Given the description of an element on the screen output the (x, y) to click on. 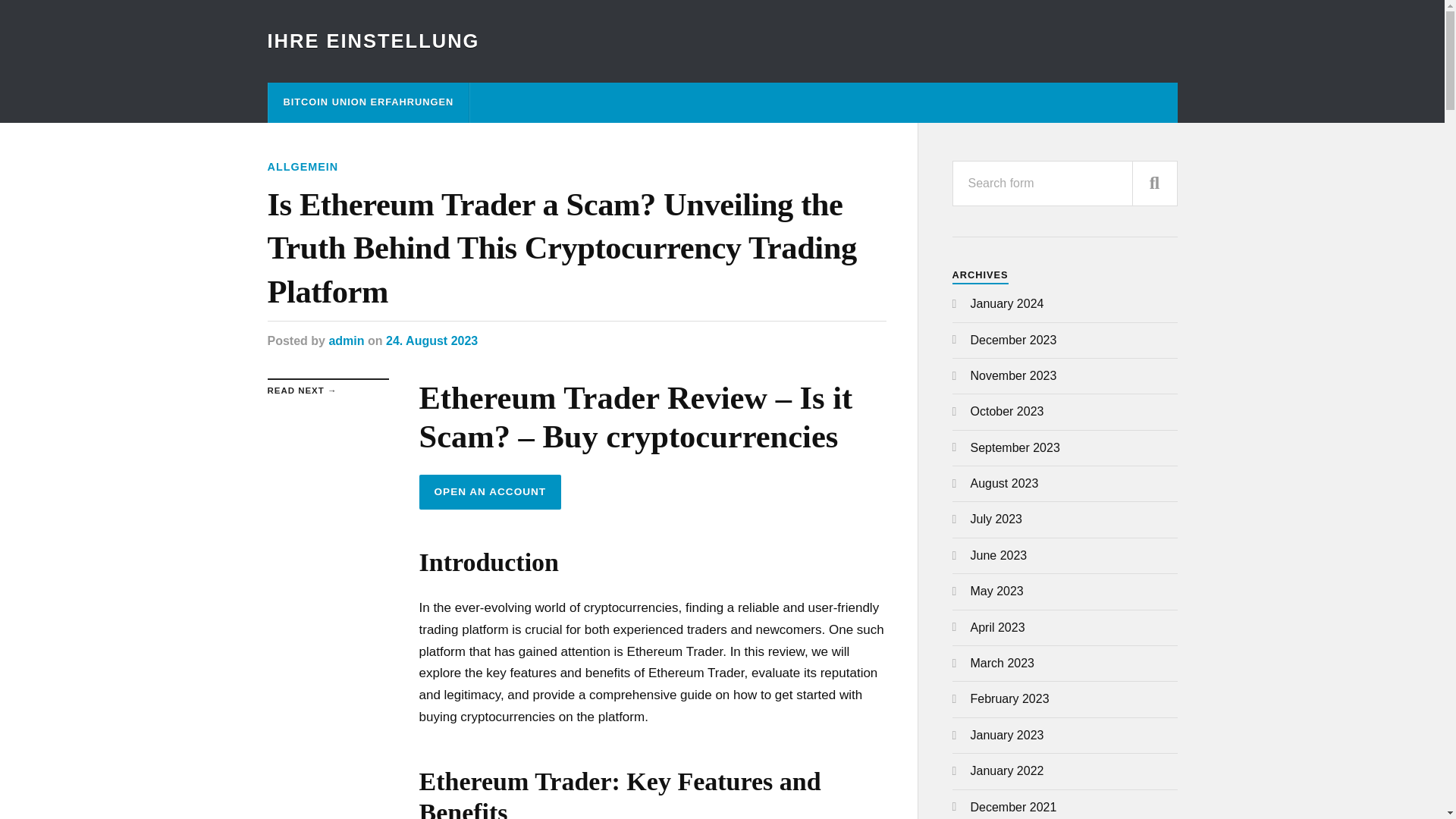
24. August 2023 (431, 340)
November 2023 (1014, 375)
June 2023 (999, 554)
BITCOIN UNION ERFAHRUNGEN (367, 102)
ALLGEMEIN (301, 166)
December 2021 (1014, 807)
OPEN AN ACCOUNT (489, 490)
OPEN AN ACCOUNT (489, 492)
October 2023 (1007, 410)
August 2023 (1005, 482)
January 2023 (1007, 735)
IHRE EINSTELLUNG (372, 40)
admin (346, 340)
September 2023 (1015, 447)
April 2023 (998, 626)
